Given the description of an element on the screen output the (x, y) to click on. 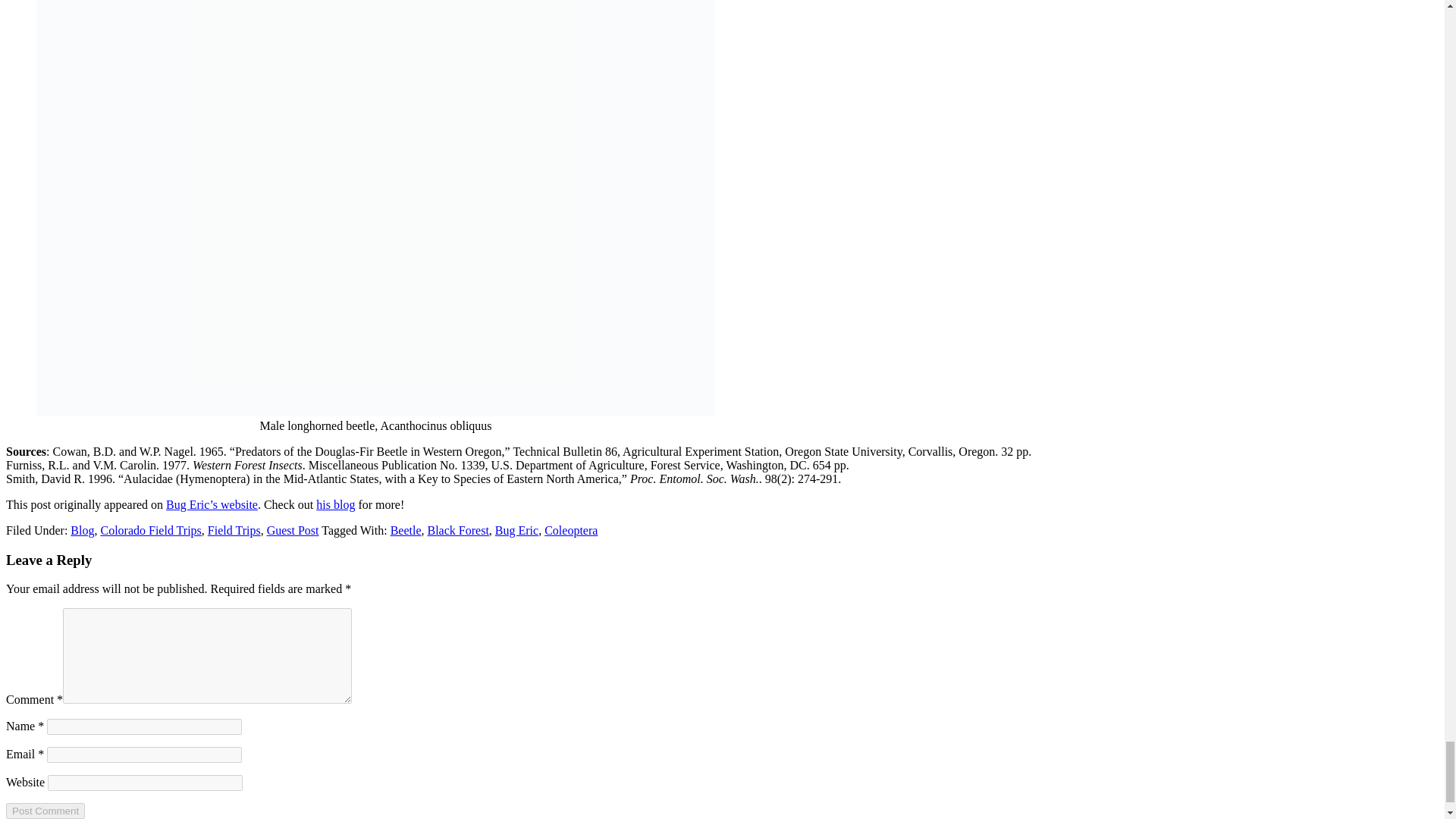
Beetle (406, 530)
Post Comment (44, 811)
Guest Post (292, 530)
Post Comment (44, 811)
Black Forest (458, 530)
his blog (335, 504)
Field Trips (234, 530)
Colorado Field Trips (150, 530)
Coleoptera (570, 530)
Bug Eric (516, 530)
